Given the description of an element on the screen output the (x, y) to click on. 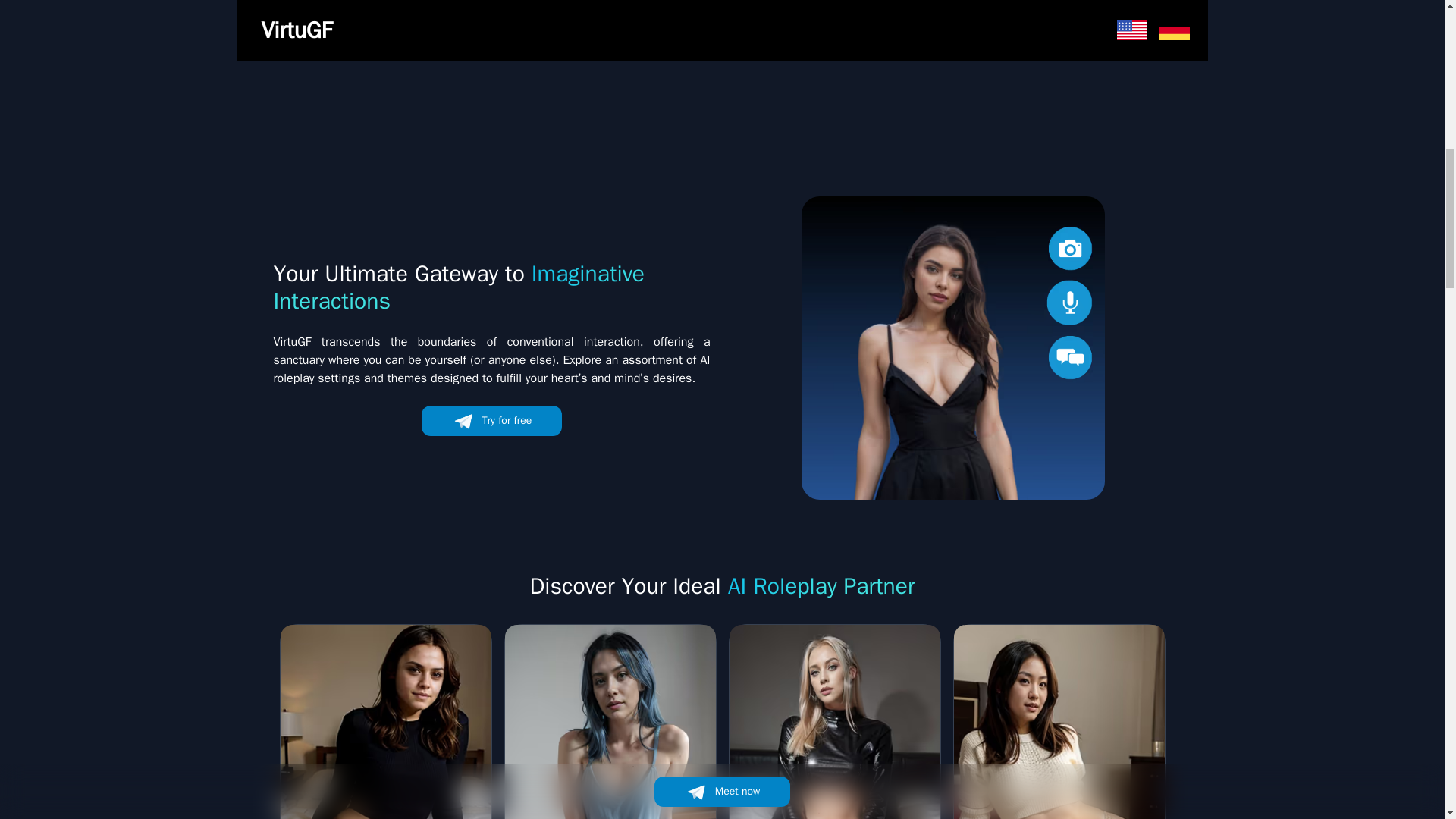
Try for free (492, 420)
AI girlfriend (491, 25)
AI girlfriend (951, 347)
